Given the description of an element on the screen output the (x, y) to click on. 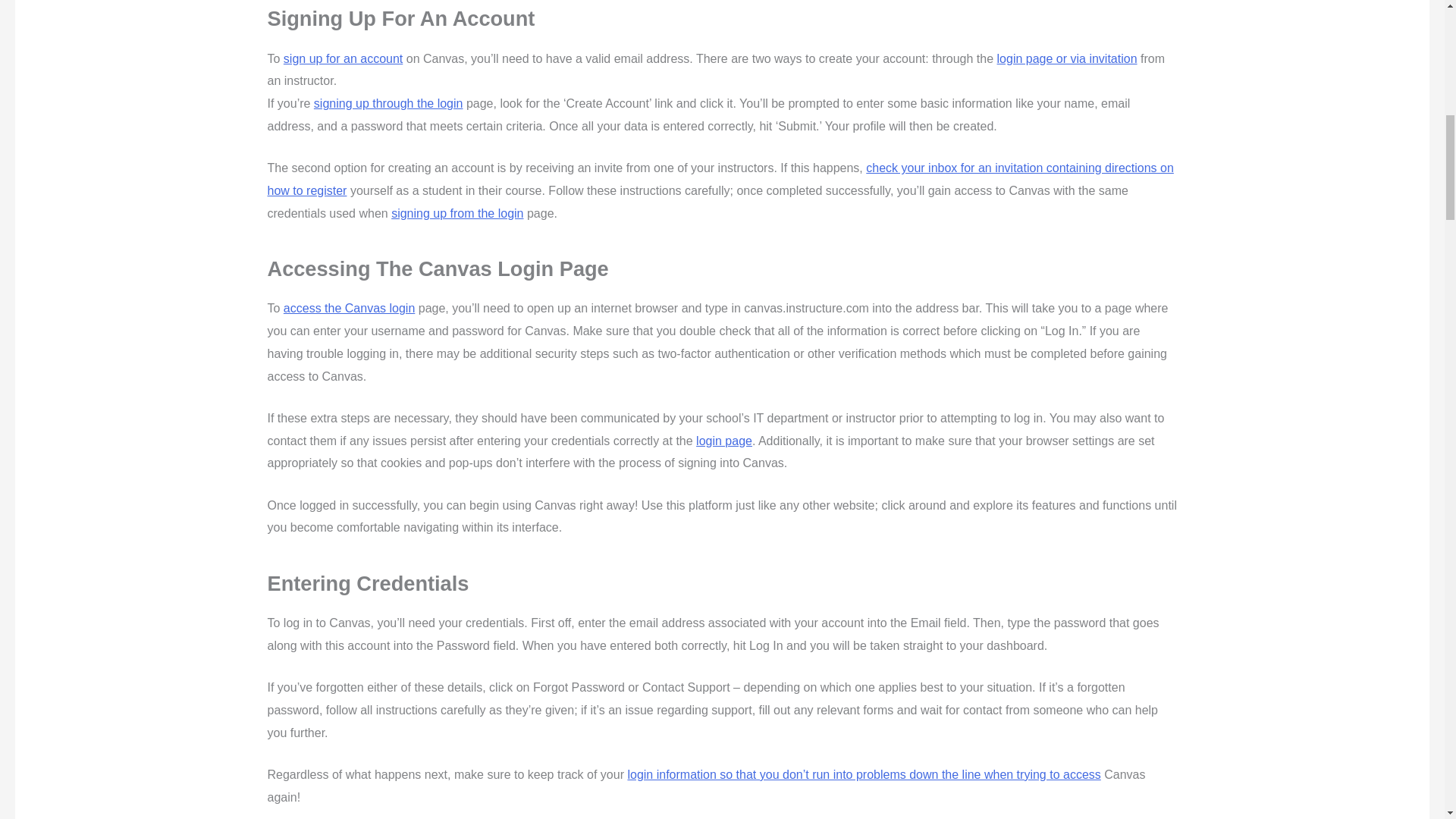
login page (723, 440)
signing up through the login (388, 103)
sign up for an account (343, 58)
access the Canvas login (348, 308)
signing up from the login (456, 213)
login page or via invitation (1067, 58)
